Given the description of an element on the screen output the (x, y) to click on. 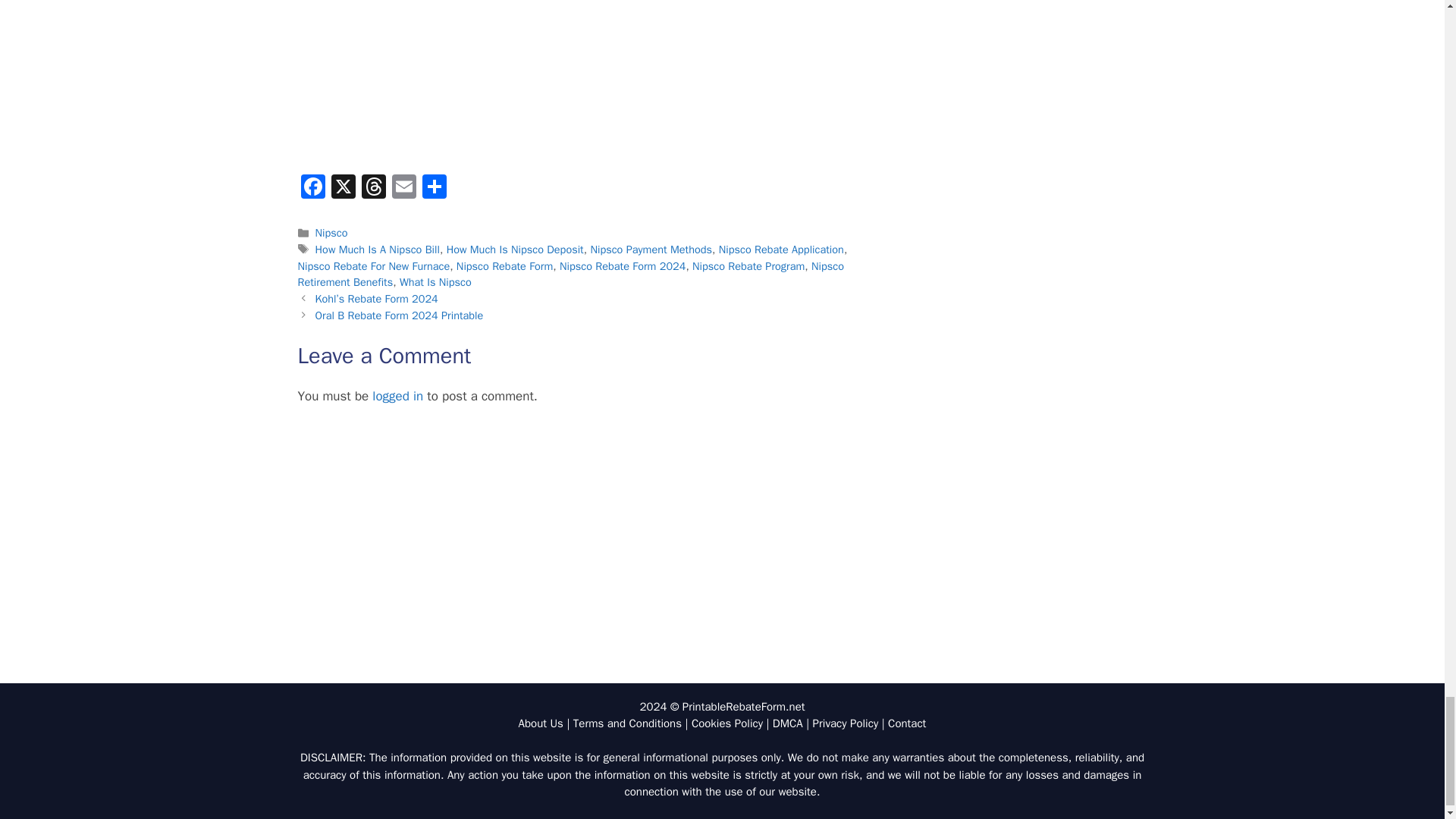
Facebook (312, 188)
Nipsco Rebate Program (749, 265)
Nipsco Rebate For New Furnace (373, 265)
What Is Nipsco (434, 282)
Nipsco Rebate Form (505, 265)
Email (403, 188)
X (342, 188)
Nipsco Retirement Benefits (570, 274)
Nipsco (331, 232)
Nipsco Payment Methods (650, 249)
